Given the description of an element on the screen output the (x, y) to click on. 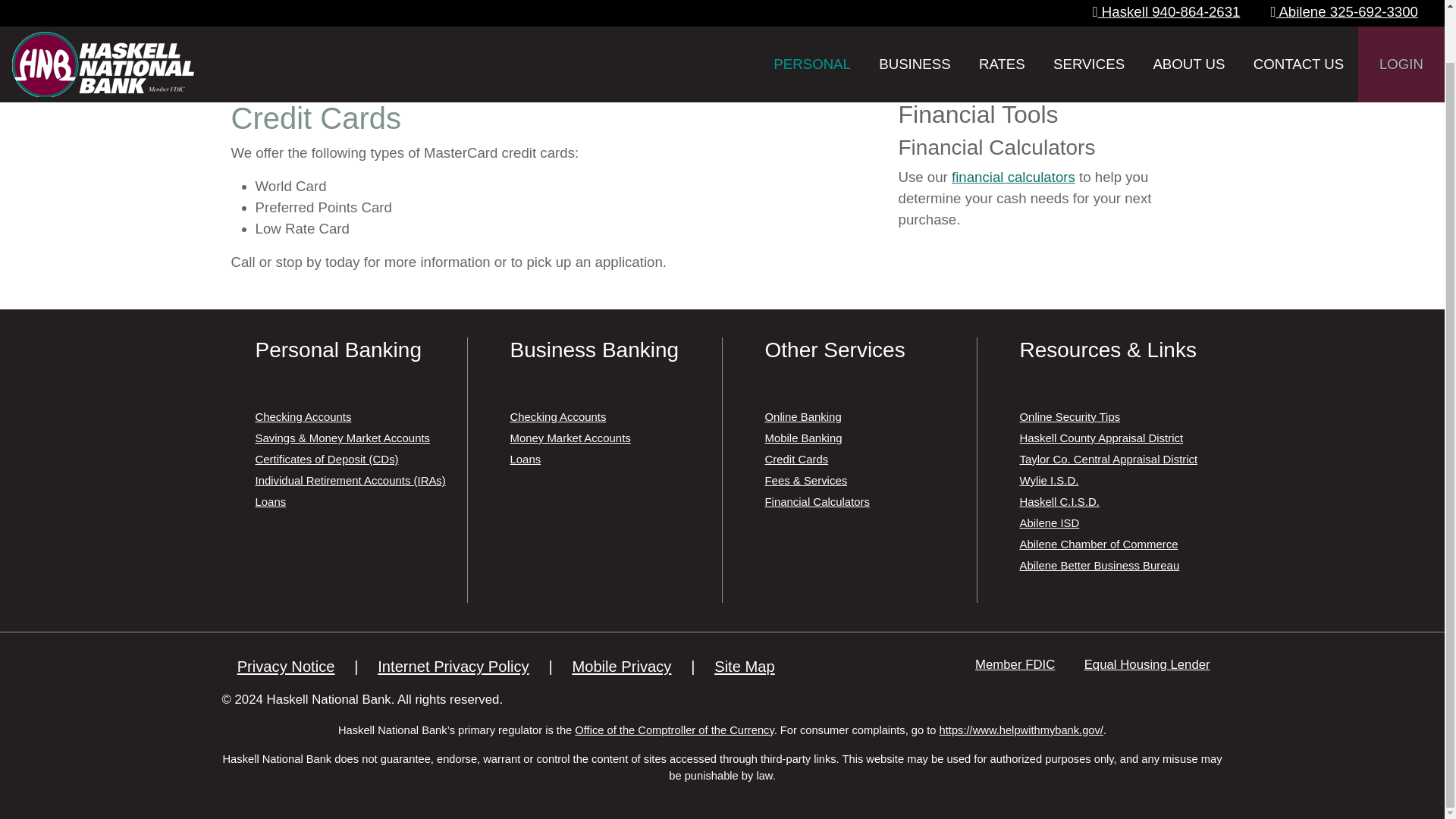
Haskell National Bank (102, 20)
CONTACT US (1298, 22)
ABOUT US (1188, 22)
SERVICES (1088, 22)
BUSINESS (914, 22)
PERSONAL (812, 22)
financial calculators (1013, 176)
RATES (1001, 22)
Checking Accounts (302, 416)
